Given the description of an element on the screen output the (x, y) to click on. 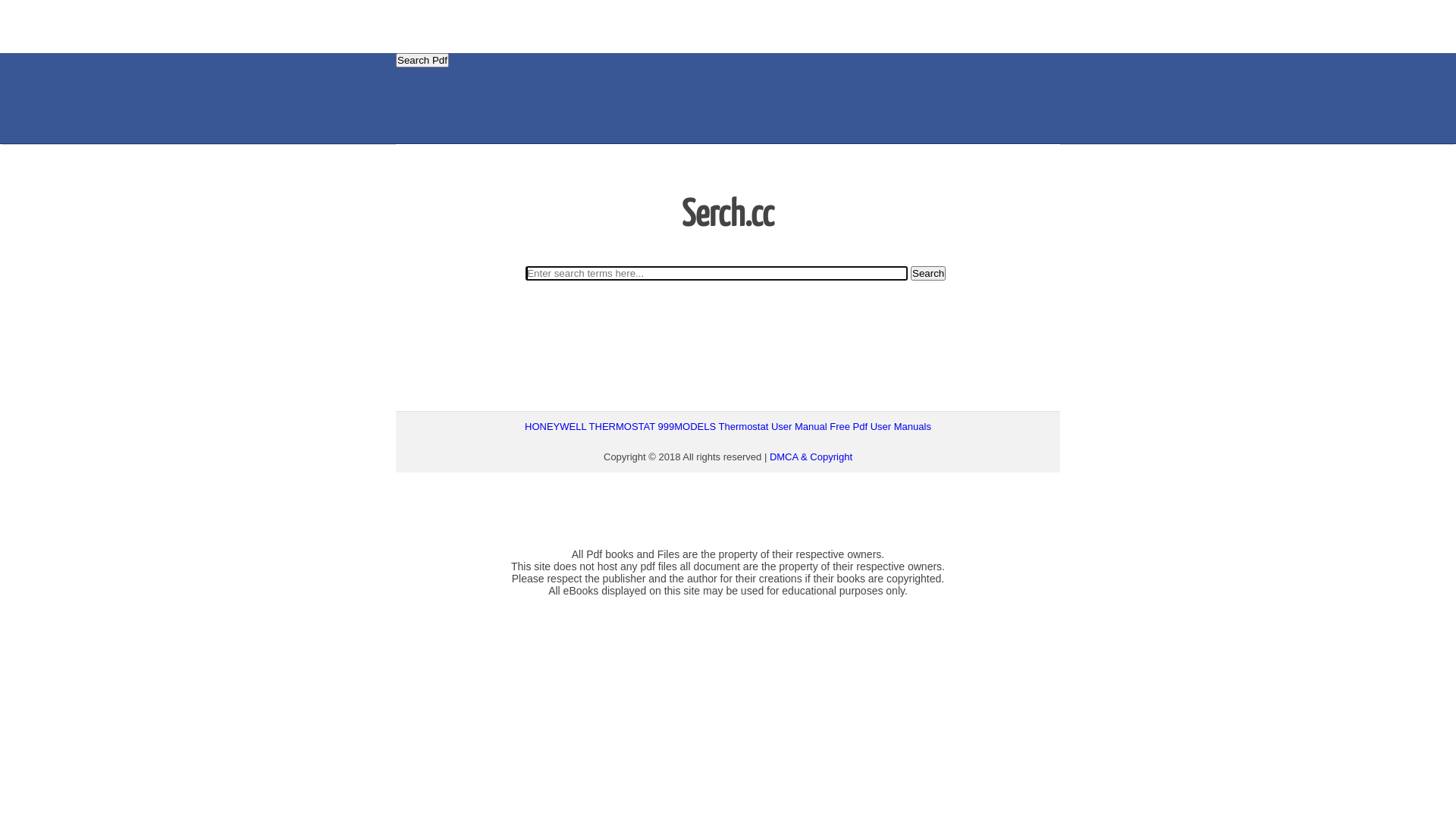
Search Pdf Element type: text (421, 60)
Thermostat User Manual Element type: text (772, 426)
DMCA & Copyright Element type: text (810, 456)
Search Element type: text (927, 273)
HONEYWELL THERMOSTAT 999MODELS Element type: text (619, 426)
Free Pdf User Manuals Element type: text (880, 426)
